Given the description of an element on the screen output the (x, y) to click on. 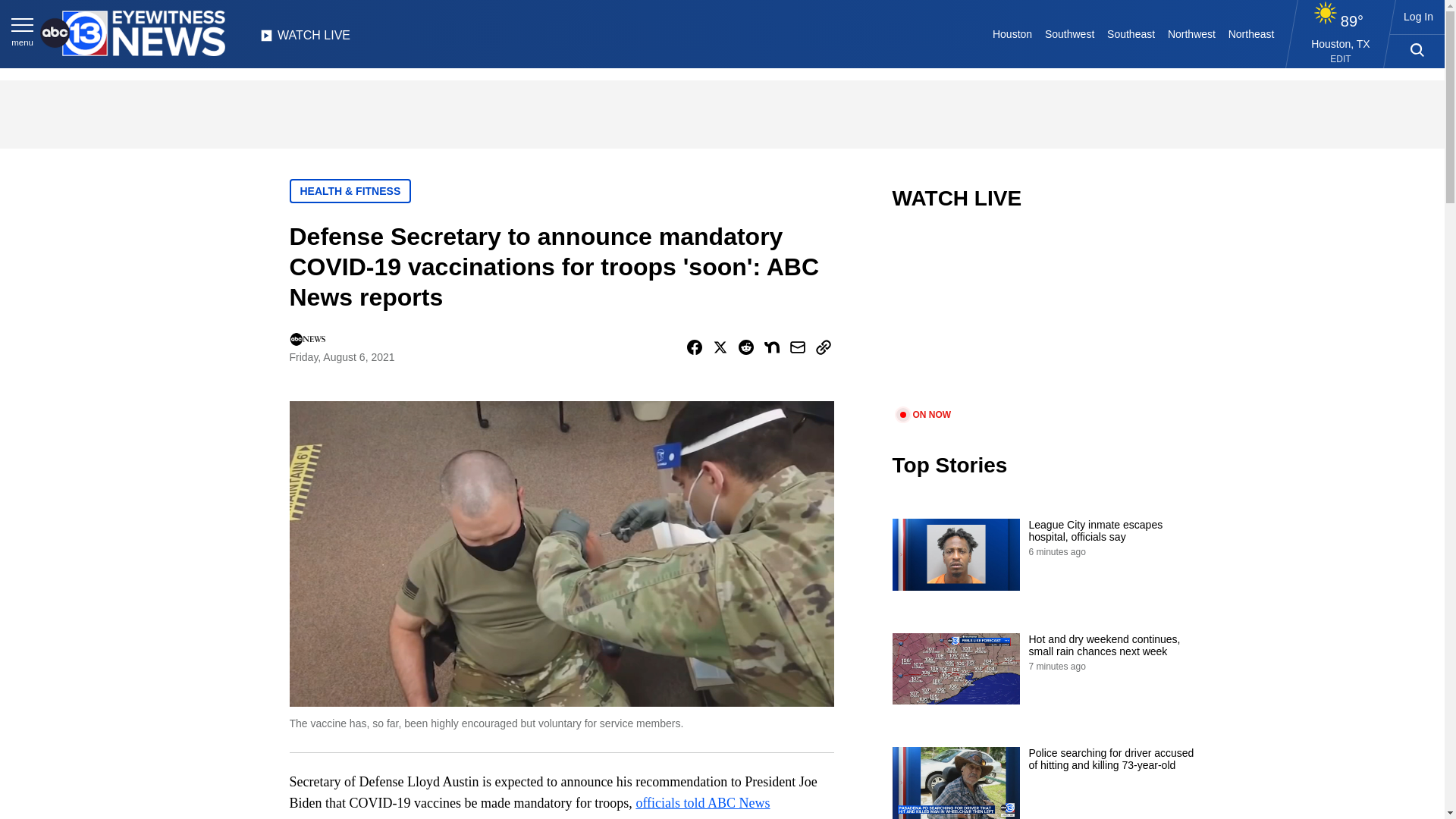
video.title (1043, 318)
EDIT (1340, 59)
Houston, TX (1340, 43)
WATCH LIVE (305, 39)
Northeast (1250, 33)
Houston (1013, 33)
Northwest (1192, 33)
Southeast (1130, 33)
Southwest (1069, 33)
